Given the description of an element on the screen output the (x, y) to click on. 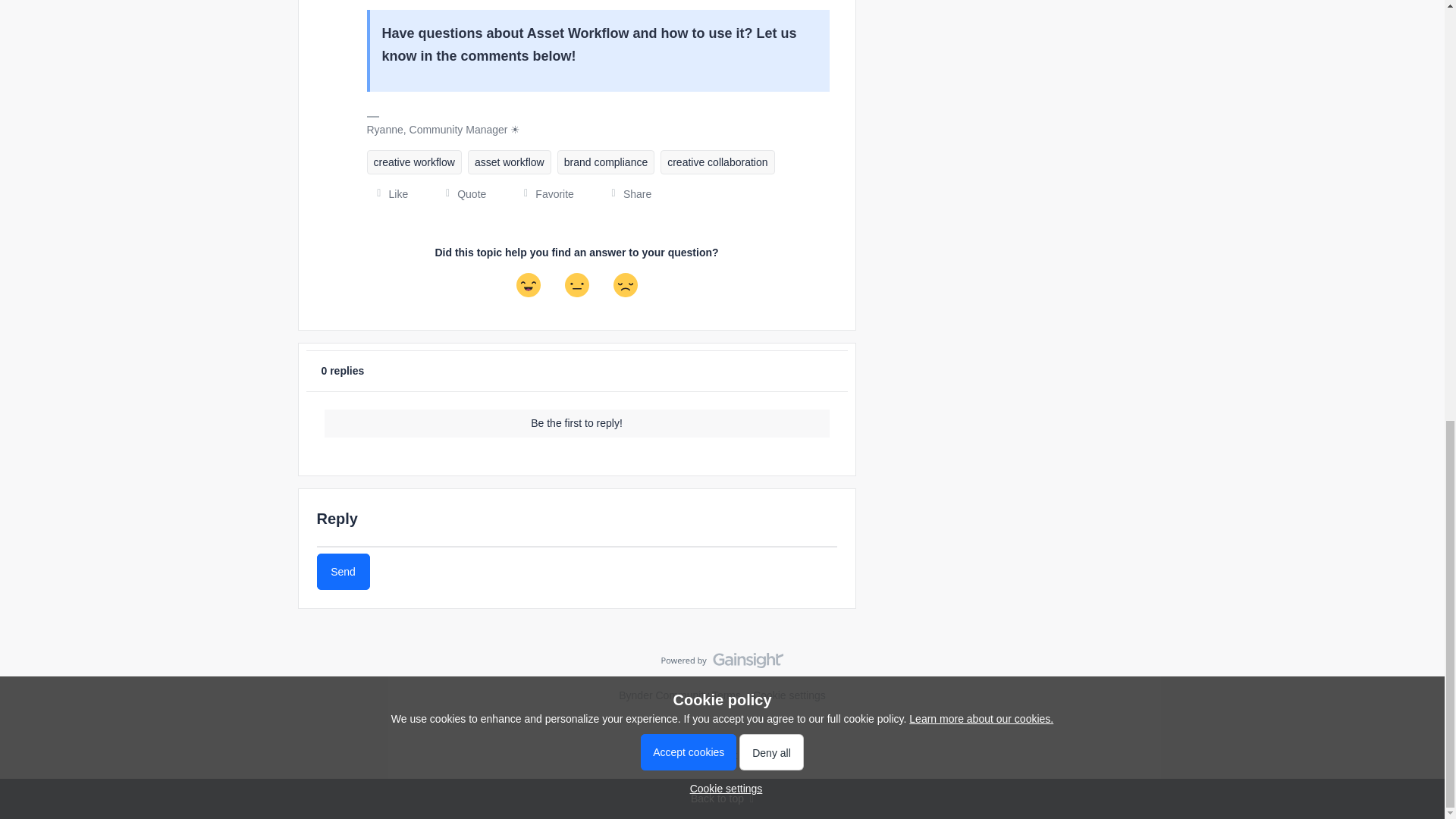
Visit Gainsight.com (722, 663)
creative collaboration (717, 161)
Back to top (722, 798)
asset workflow (509, 161)
brand compliance (606, 161)
Quote (460, 193)
creative workflow (413, 161)
Like (387, 193)
